Given the description of an element on the screen output the (x, y) to click on. 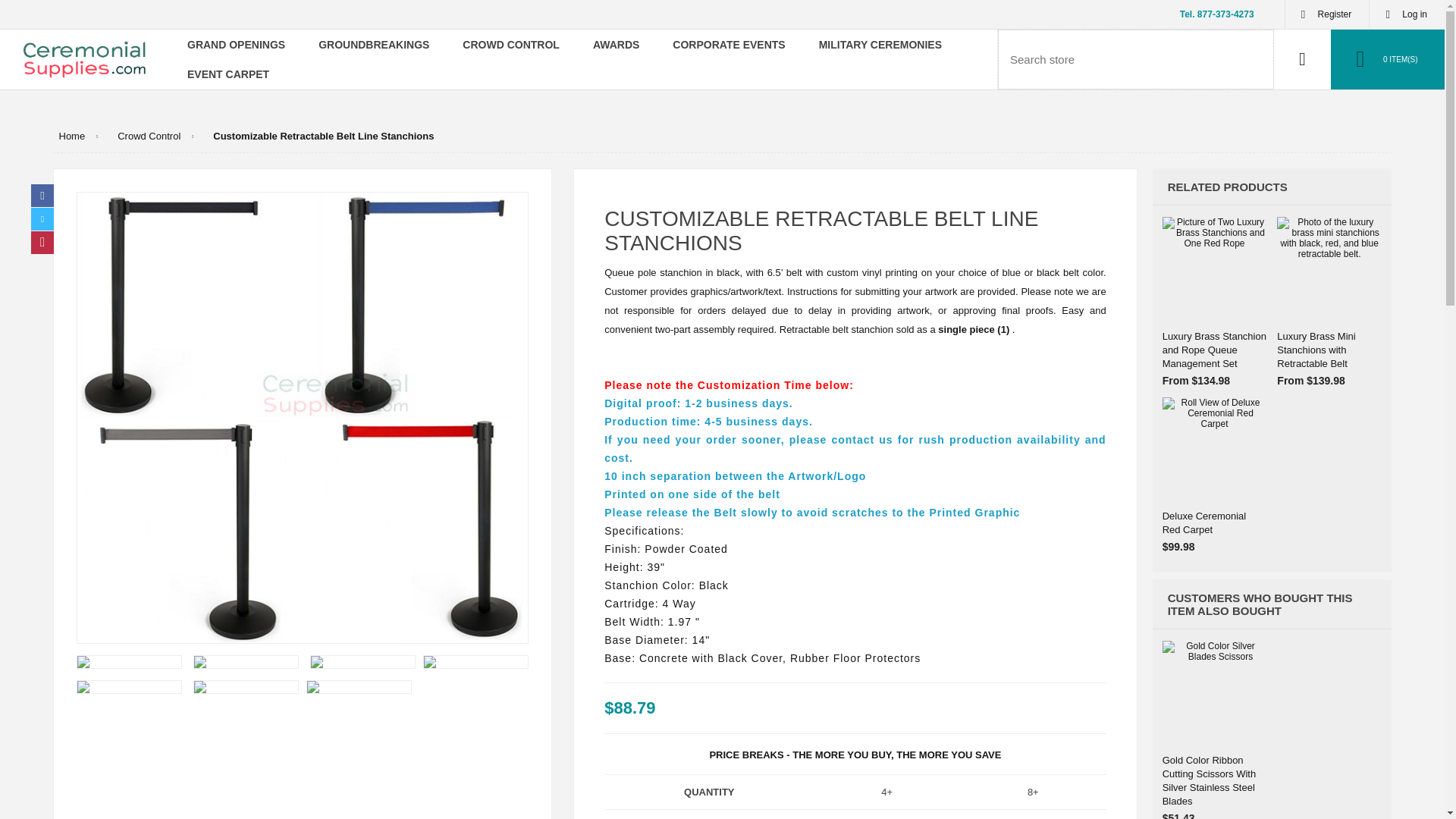
GROUNDBREAKINGS (373, 44)
Search (1302, 59)
CROWD CONTROL (510, 44)
GRAND OPENINGS (235, 44)
AWARDS (616, 44)
Register (1327, 14)
Search (1302, 59)
